Given the description of an element on the screen output the (x, y) to click on. 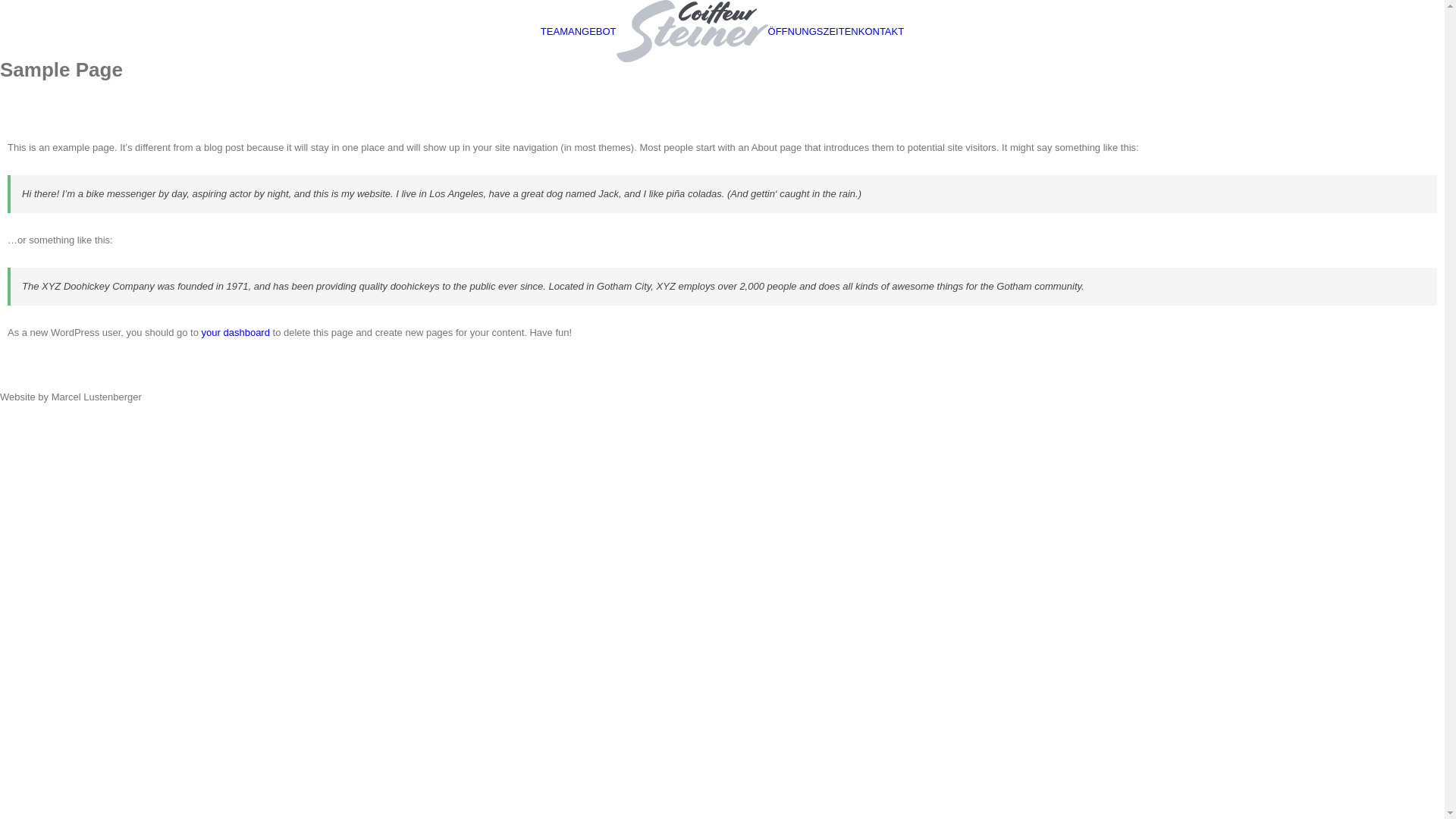
KONTAKT Element type: text (880, 30)
TEAM Element type: text (553, 30)
your dashboard Element type: text (235, 332)
ANGEBOT Element type: text (591, 30)
